Given the description of an element on the screen output the (x, y) to click on. 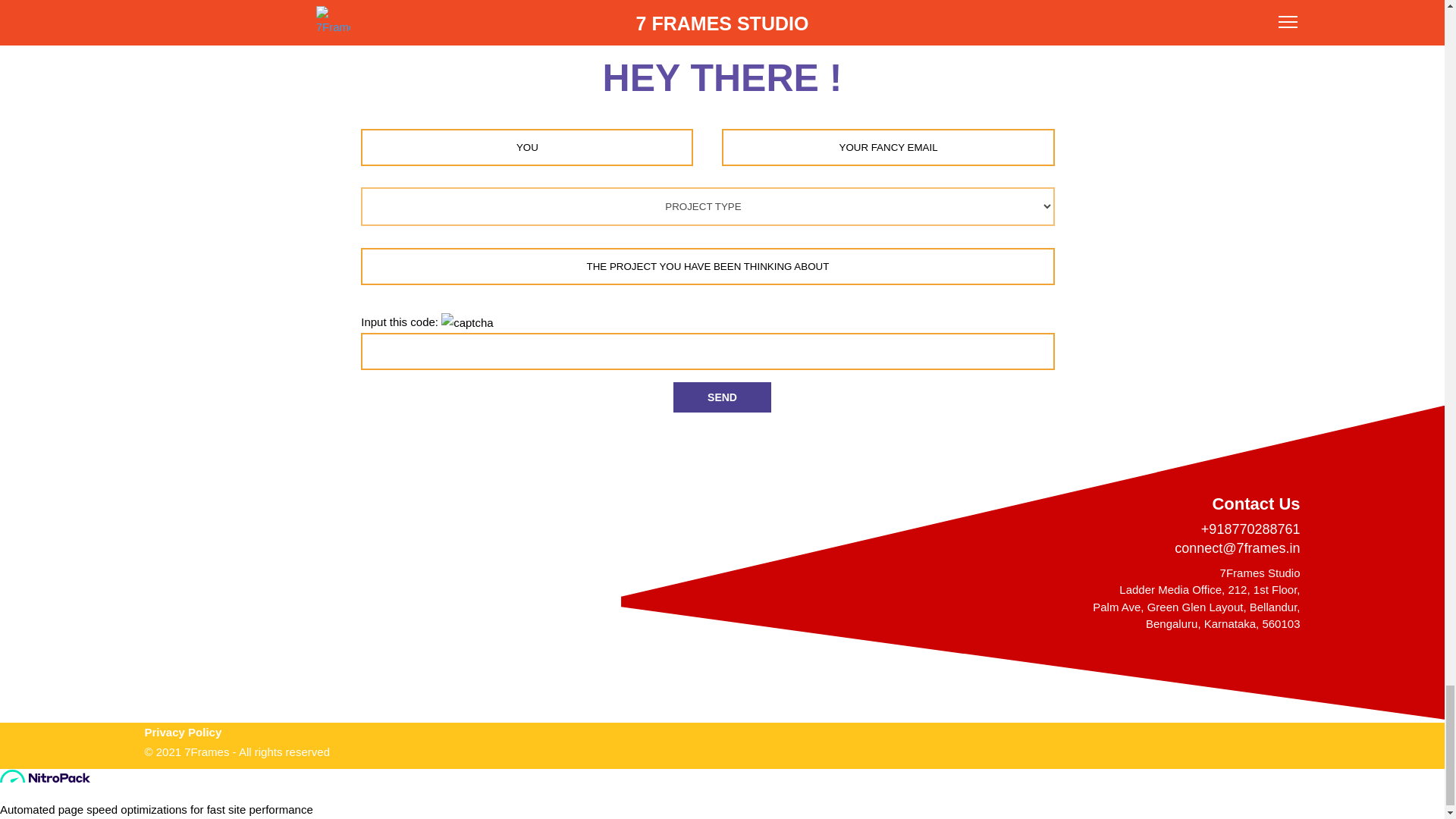
SEND (721, 397)
SEND (721, 397)
